Given the description of an element on the screen output the (x, y) to click on. 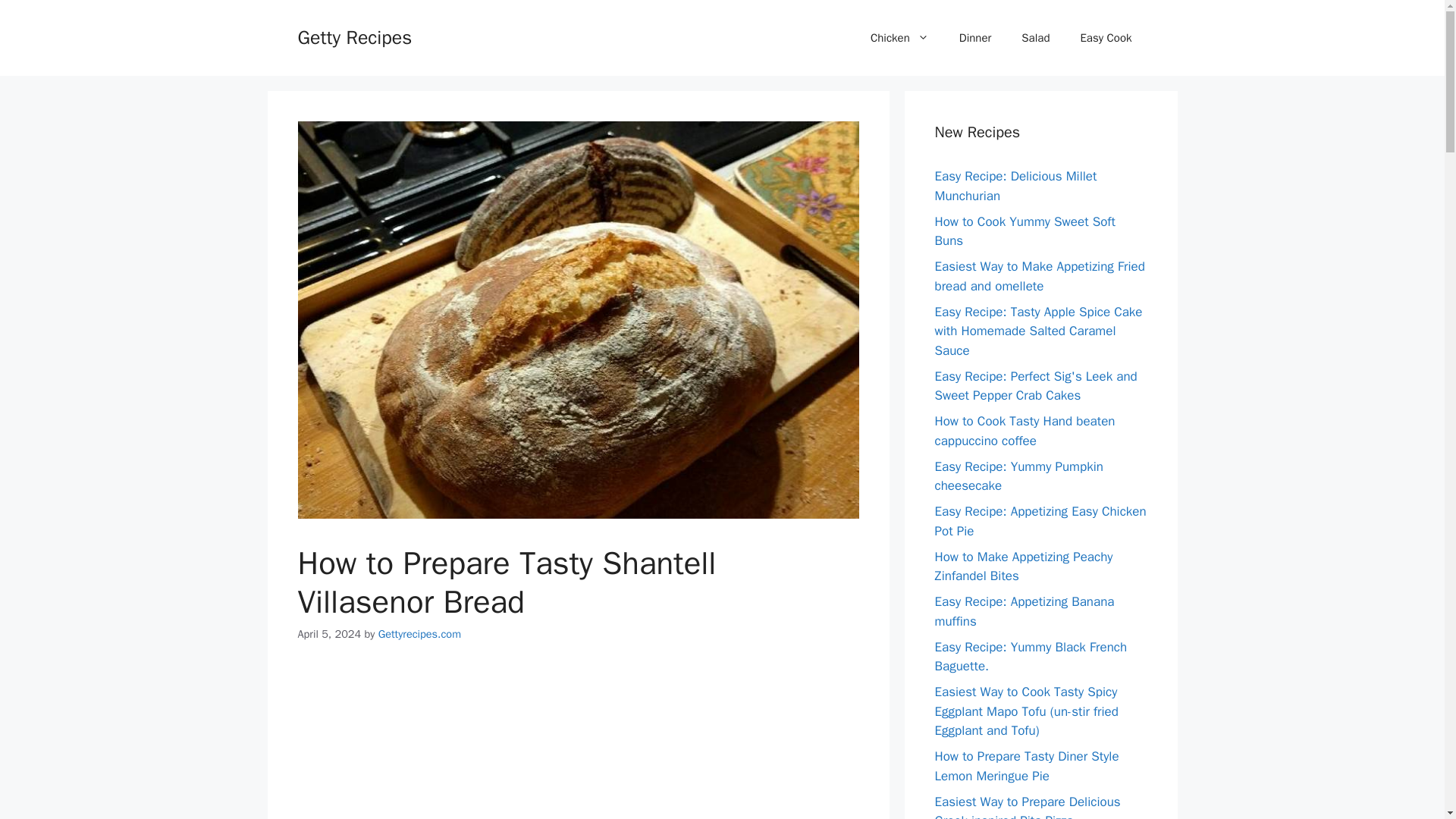
Easy Recipe: Perfect Sig's Leek and Sweet Pepper Crab Cakes (1035, 386)
Chicken (899, 37)
Easiest Way to Make Appetizing Fried bread and omellete (1039, 276)
Advertisement (578, 744)
View all posts by Gettyrecipes.com (419, 633)
Dinner (975, 37)
Easy Recipe: Delicious Millet Munchurian (1015, 185)
Salad (1035, 37)
Easy Cook (1105, 37)
Getty Recipes (354, 37)
How to Cook Yummy Sweet Soft Buns (1024, 231)
Gettyrecipes.com (419, 633)
